Given the description of an element on the screen output the (x, y) to click on. 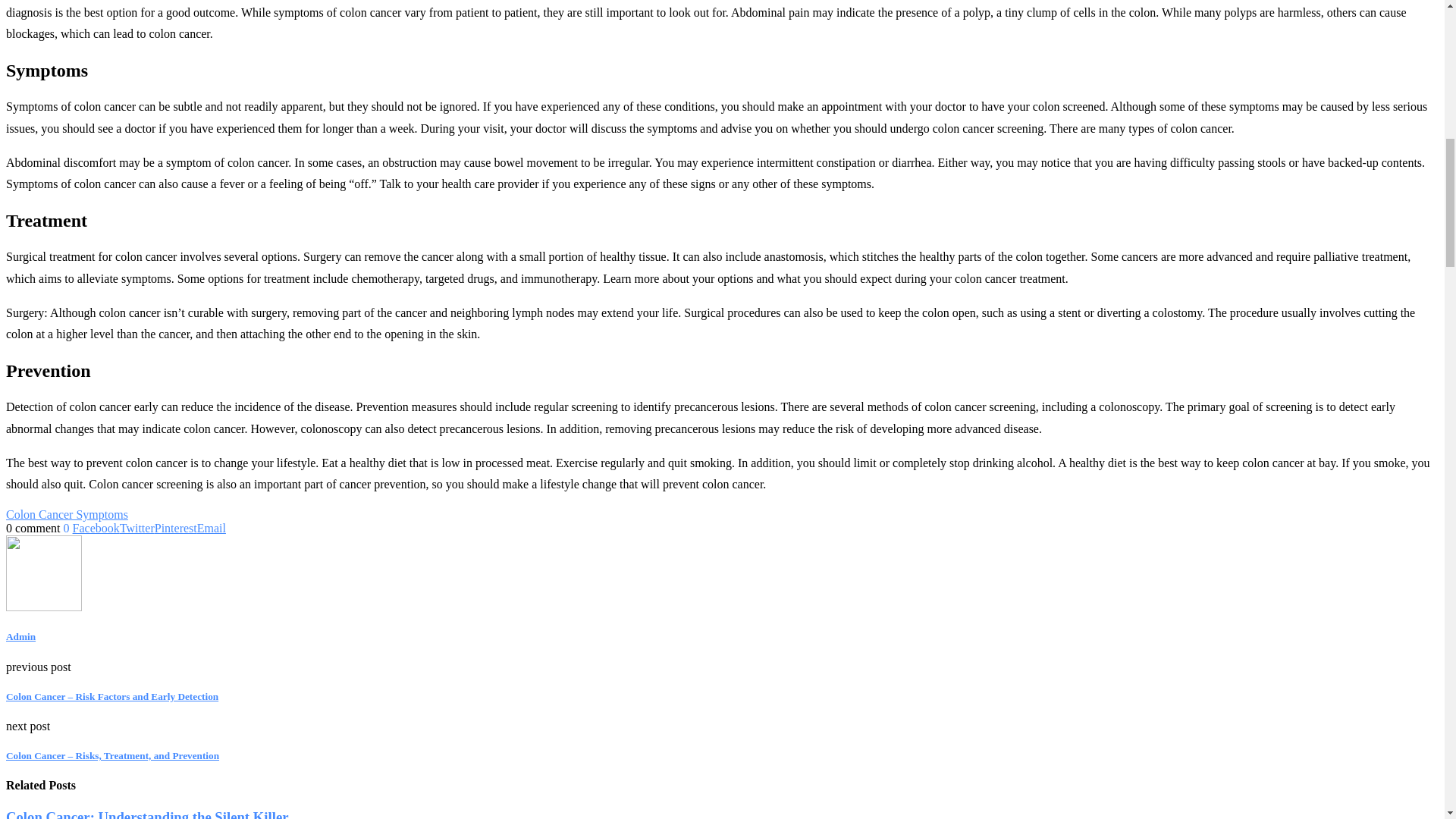
Author Admin (19, 636)
Email (210, 527)
Admin (19, 636)
Colon Cancer: Understanding the Silent Killer (146, 814)
Twitter (136, 527)
Colon Cancer Symptoms (66, 513)
Pinterest (175, 527)
Facebook (95, 527)
